Given the description of an element on the screen output the (x, y) to click on. 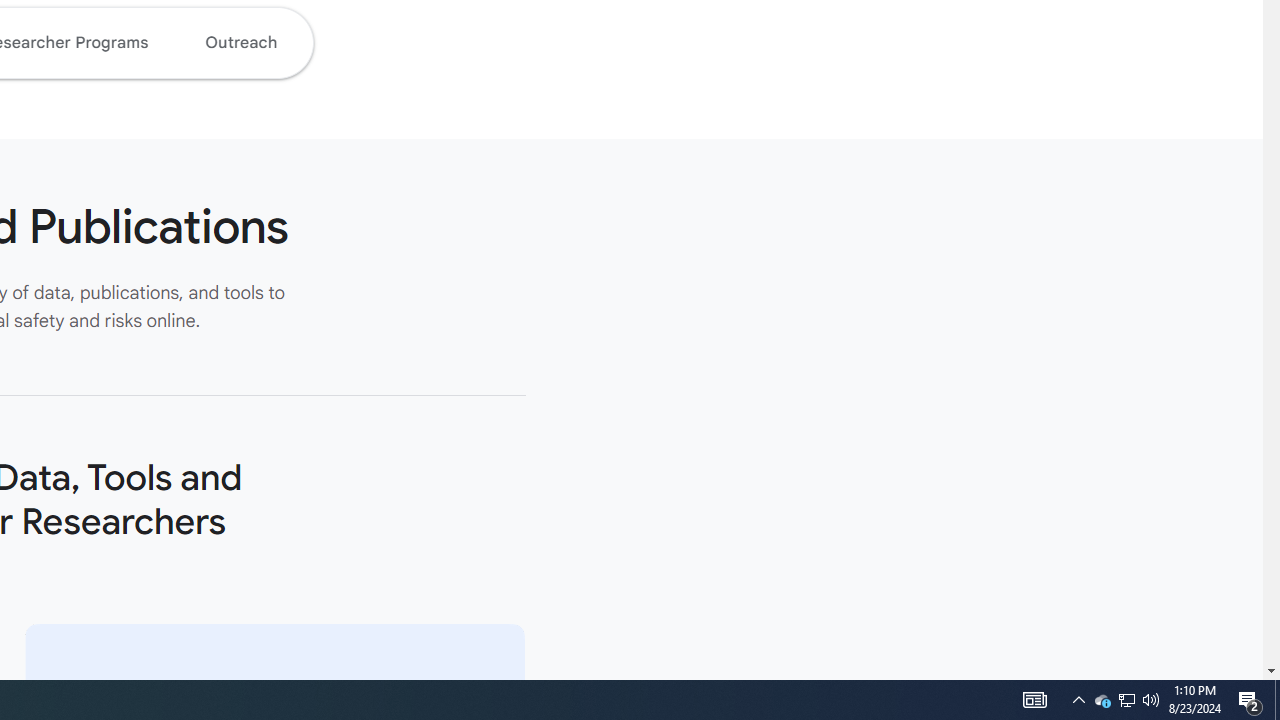
Outreach (240, 42)
